Given the description of an element on the screen output the (x, y) to click on. 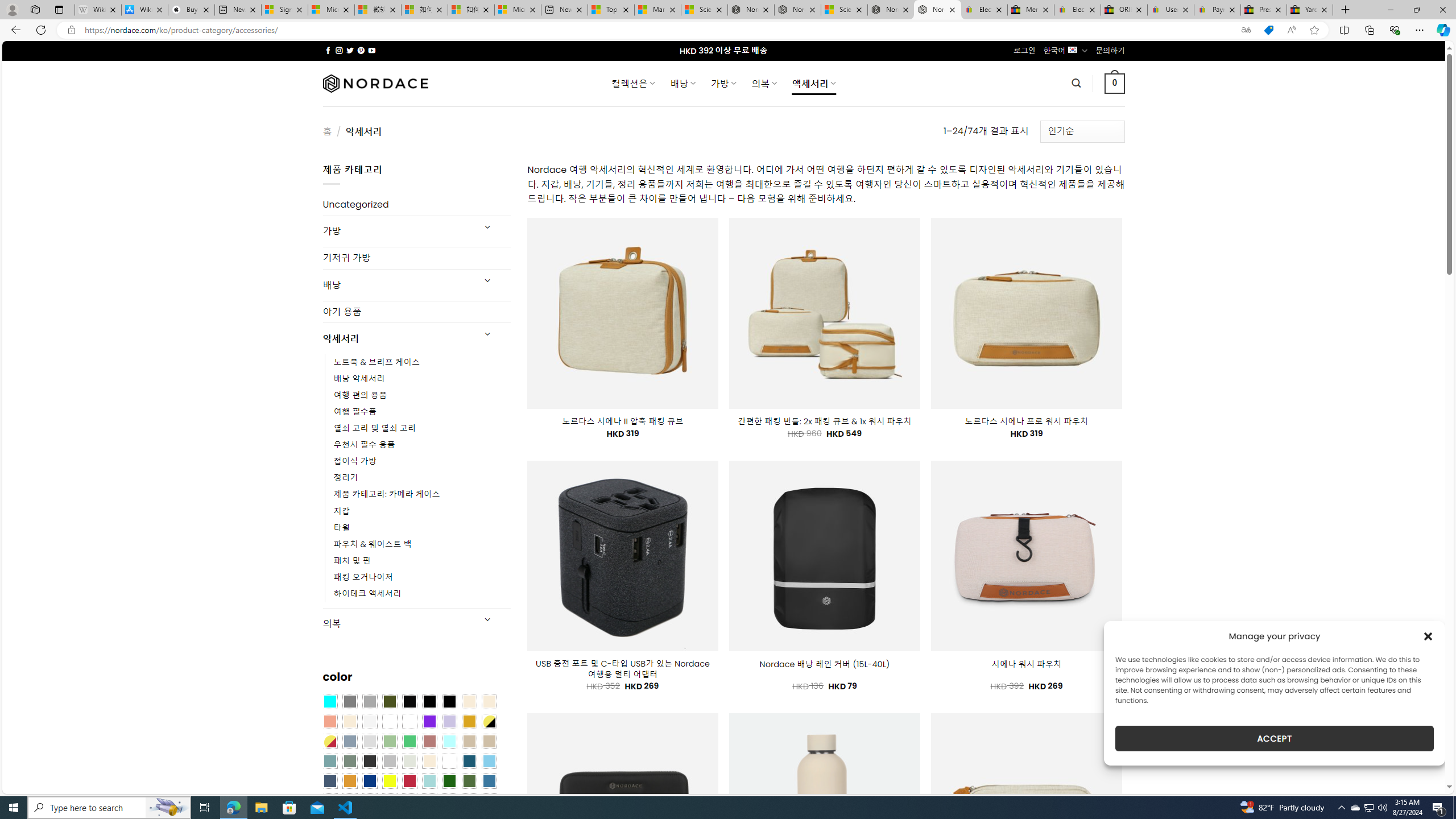
Follow on YouTube (371, 50)
ACCEPT (1274, 738)
Top Stories - MSN (610, 9)
Show translate options (1245, 29)
Buy iPad - Apple (191, 9)
